Given the description of an element on the screen output the (x, y) to click on. 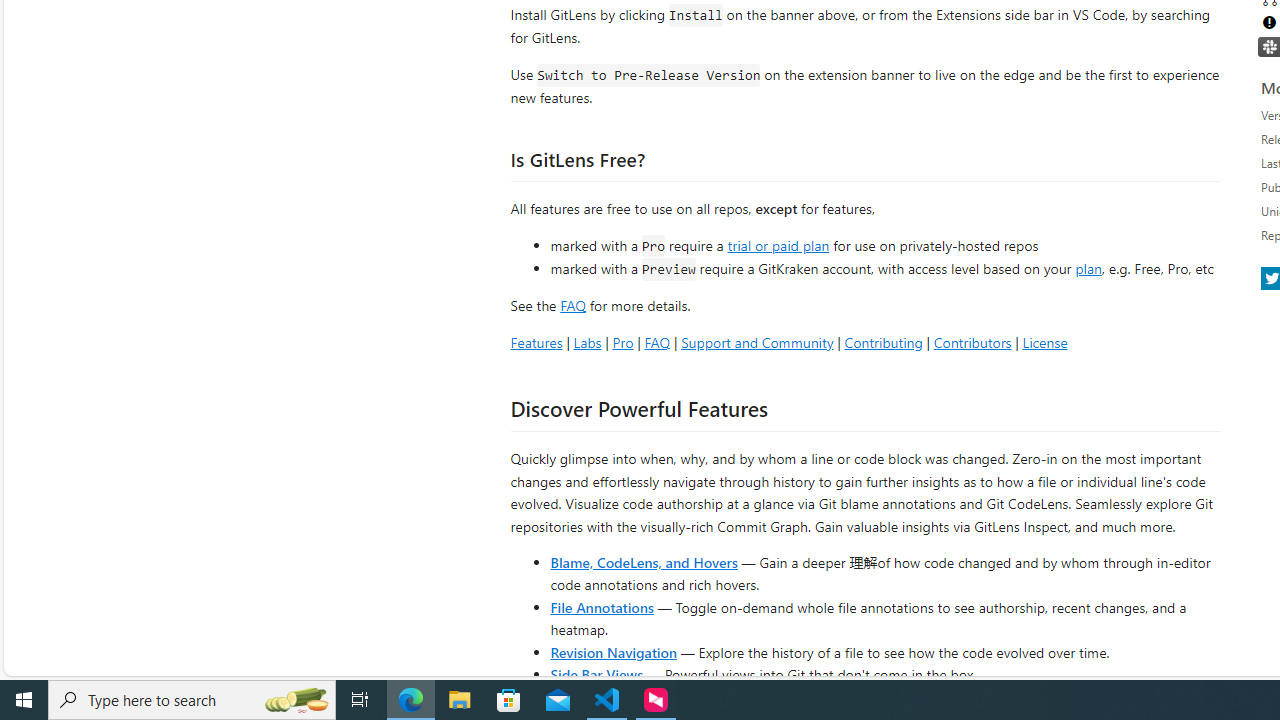
Labs (587, 341)
Support and Community (757, 341)
License (1044, 341)
Features (536, 341)
Contributing (882, 341)
Revision Navigation (613, 651)
FAQ (656, 341)
File Annotations (602, 606)
plan (1088, 269)
Pro (622, 341)
